Given the description of an element on the screen output the (x, y) to click on. 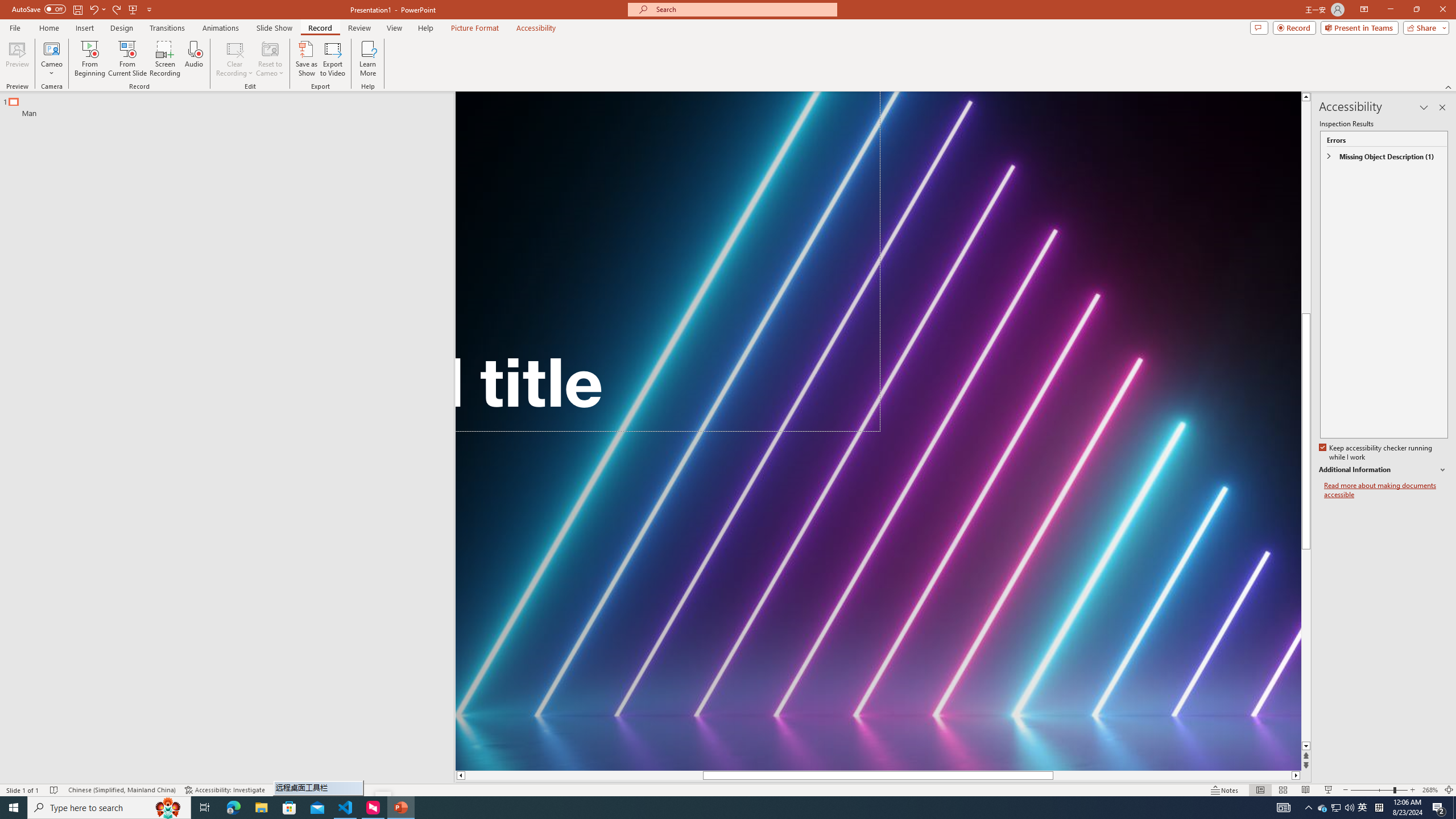
Picture Format (475, 28)
